Given the description of an element on the screen output the (x, y) to click on. 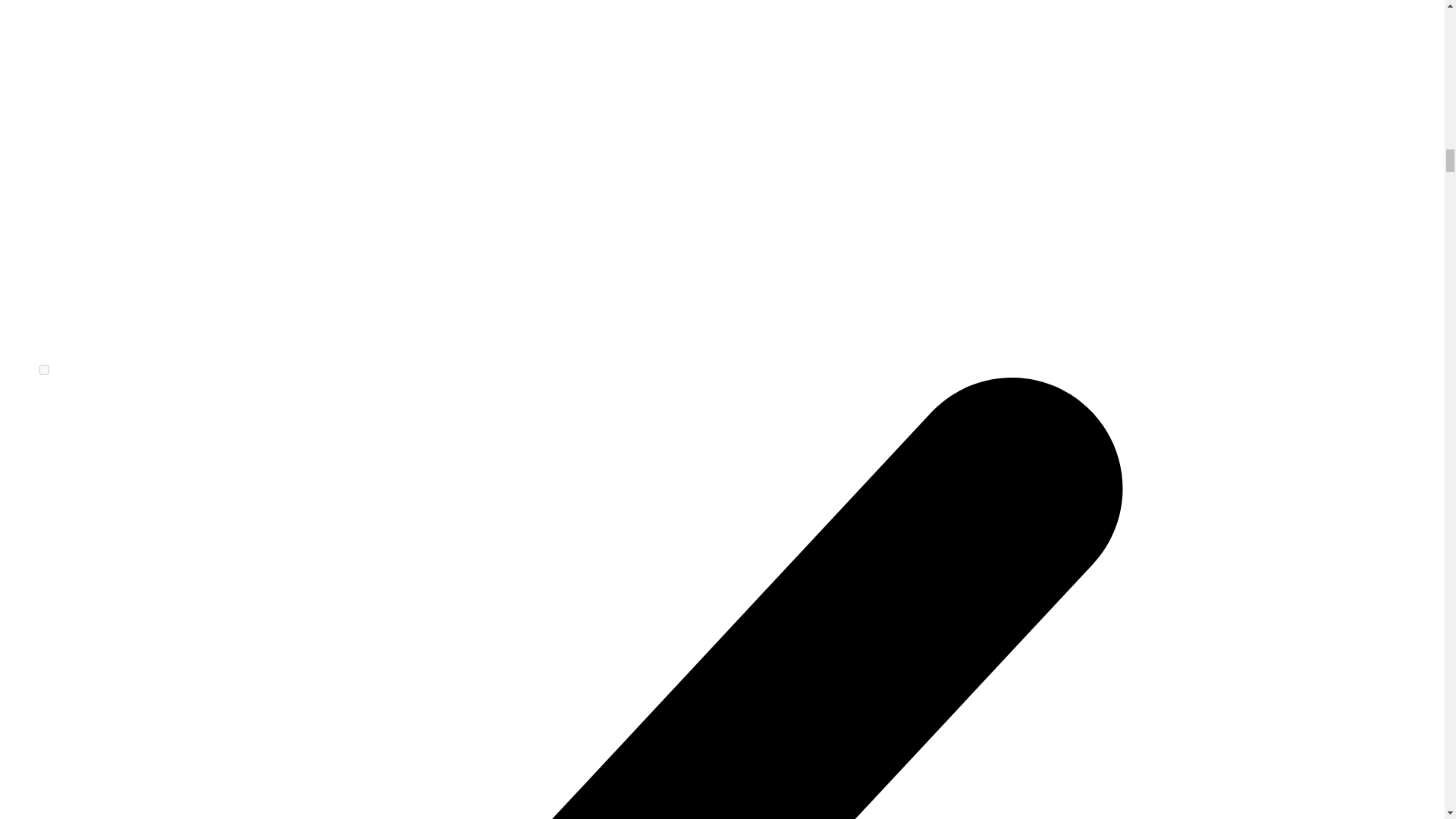
on (44, 369)
